Given the description of an element on the screen output the (x, y) to click on. 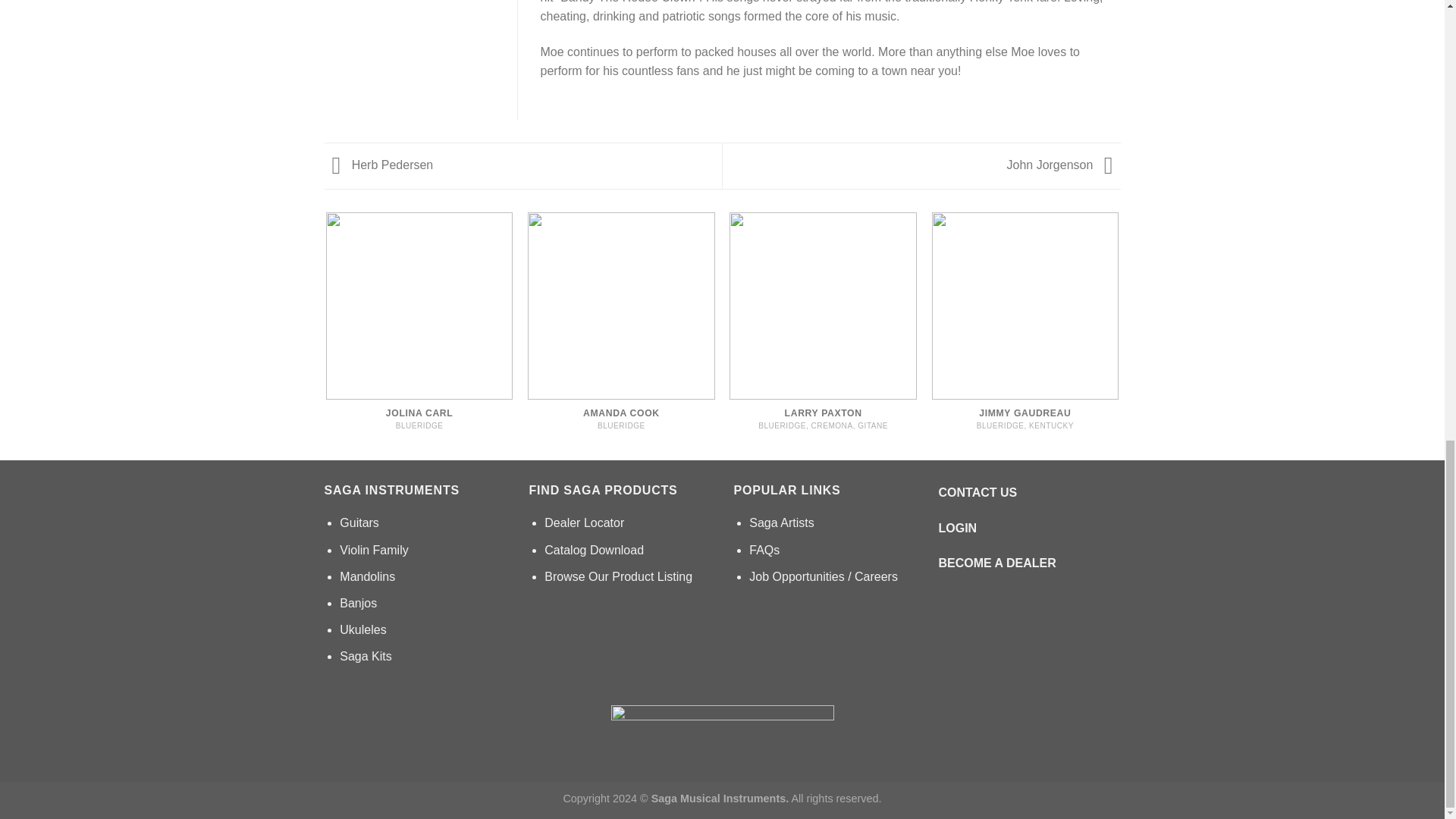
John Jorgenson (1064, 164)
Herb Pedersen (378, 164)
Herb Pedersen (378, 164)
